Given the description of an element on the screen output the (x, y) to click on. 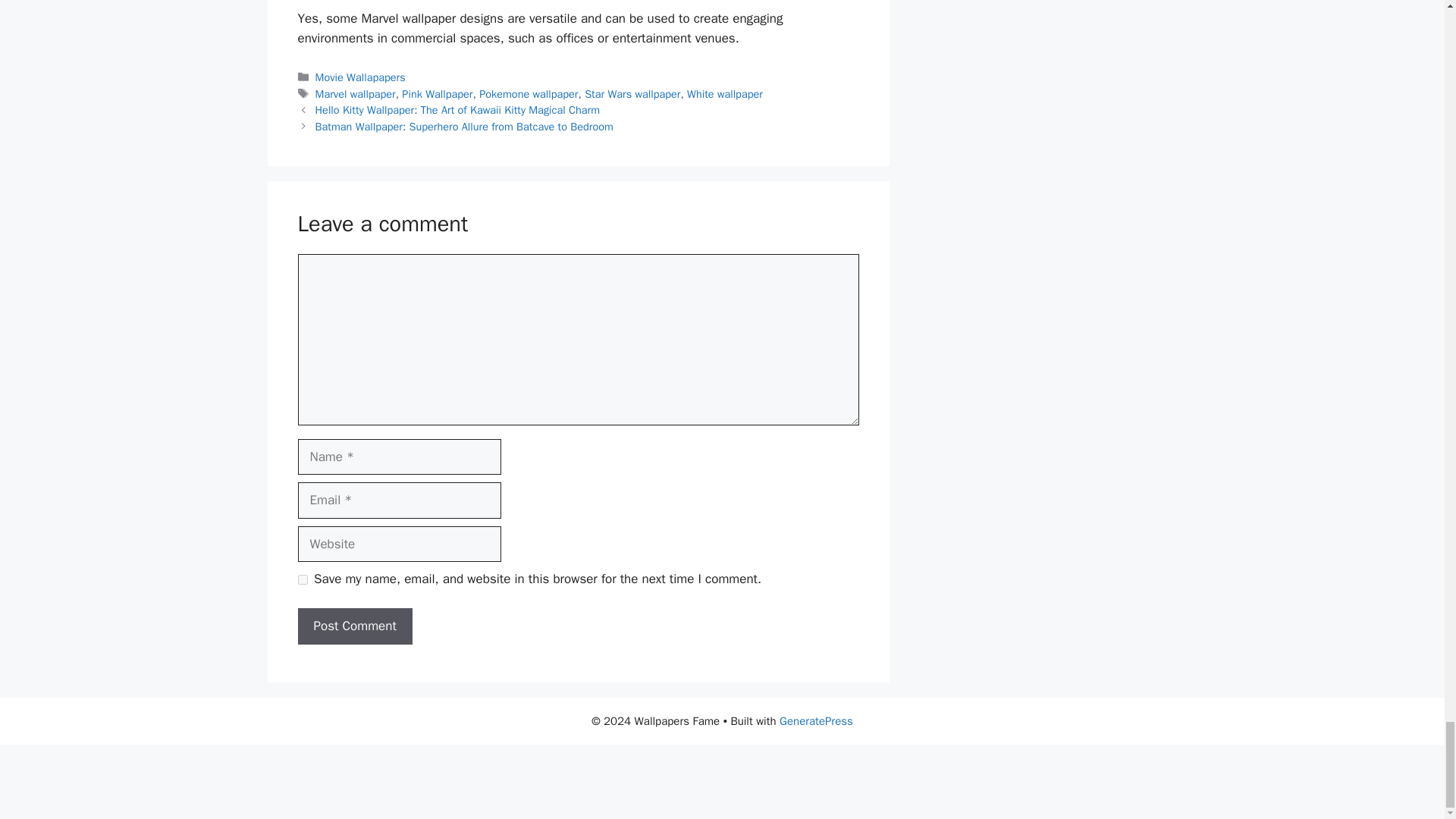
Post Comment (354, 626)
Post Comment (354, 626)
Pink Wallpaper (436, 93)
yes (302, 579)
Movie Wallapapers (360, 77)
Batman Wallpaper: Superhero Allure from Batcave to Bedroom (463, 126)
GeneratePress (815, 721)
White wallpaper (724, 93)
Marvel wallpaper (355, 93)
Star Wars wallpaper (632, 93)
Hello Kitty Wallpaper: The Art of Kawaii Kitty Magical Charm (457, 110)
Pokemone wallpaper (528, 93)
